Given the description of an element on the screen output the (x, y) to click on. 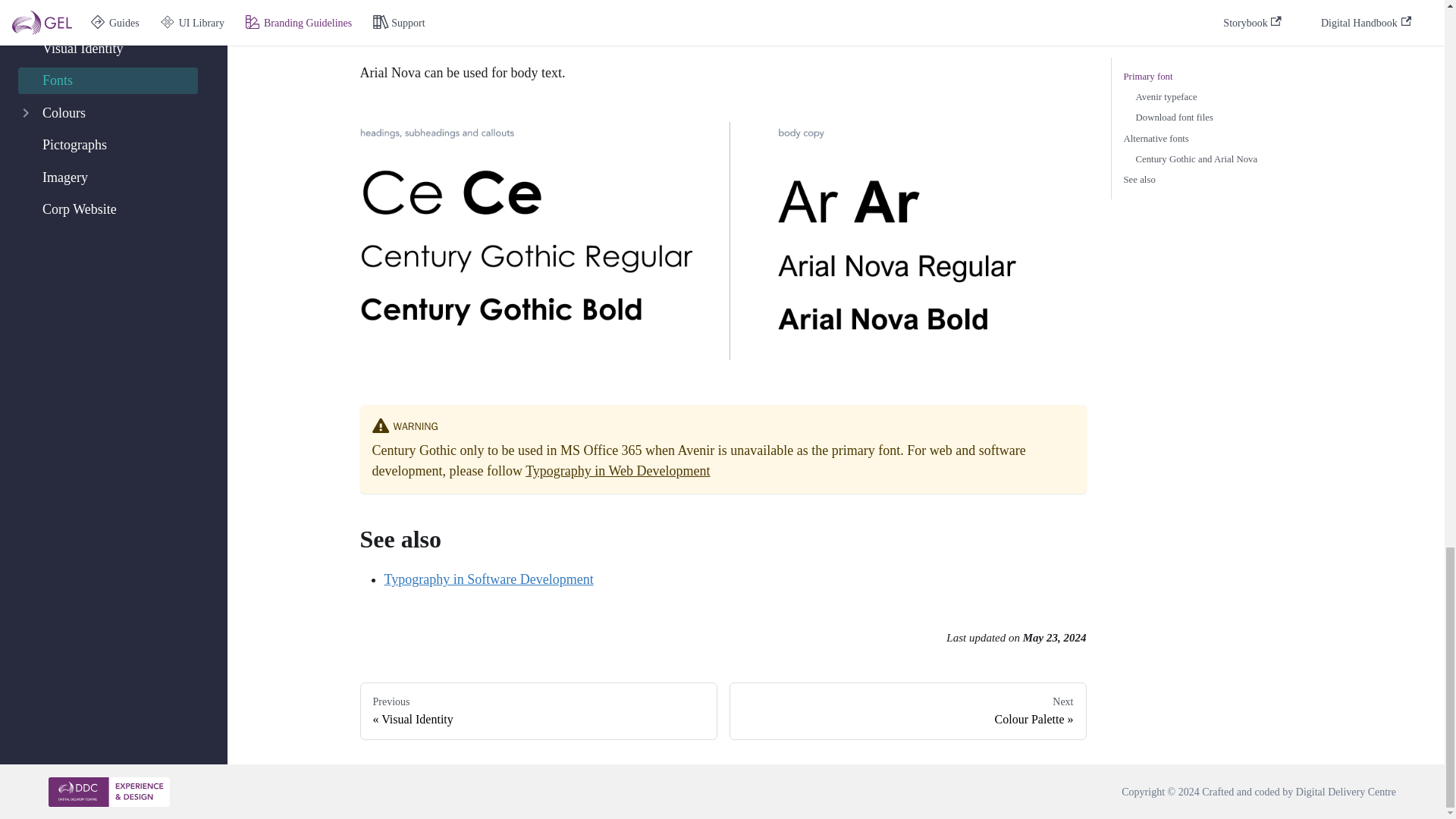
Typography in Web Development (617, 470)
Typography in Software Development (907, 711)
